Given the description of an element on the screen output the (x, y) to click on. 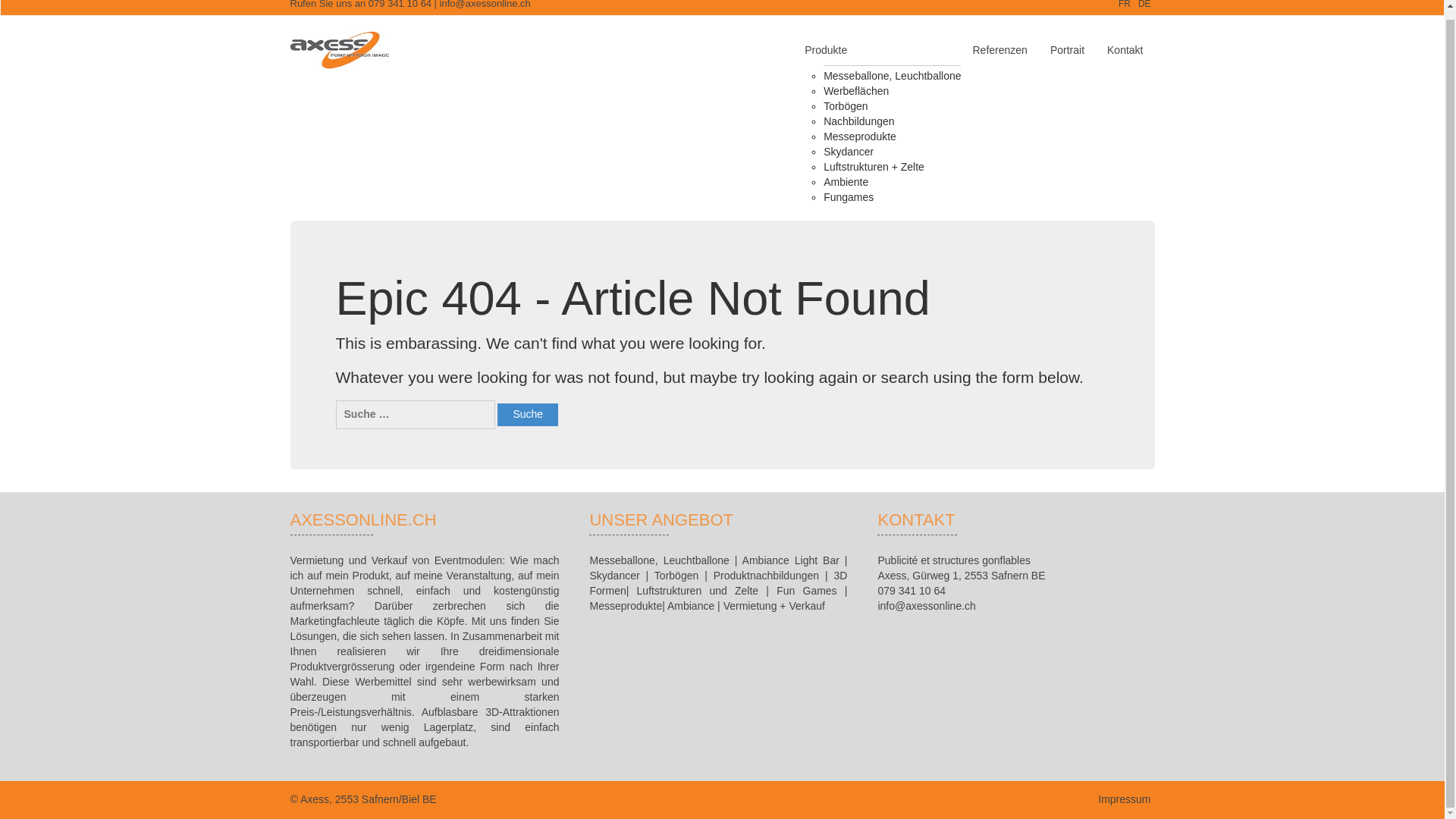
Suche (527, 414)
Messeprodukte (860, 136)
Skydancer (848, 151)
Produkte (876, 49)
FR (1124, 4)
Suche (527, 414)
Impressum (1123, 799)
Nachbildungen (858, 121)
Kontakt (1125, 49)
Referenzen (999, 49)
Portrait (1067, 49)
Messeballone, Leuchtballone (892, 75)
Fungames (848, 197)
Ambiente (845, 181)
DE (1144, 4)
